Given the description of an element on the screen output the (x, y) to click on. 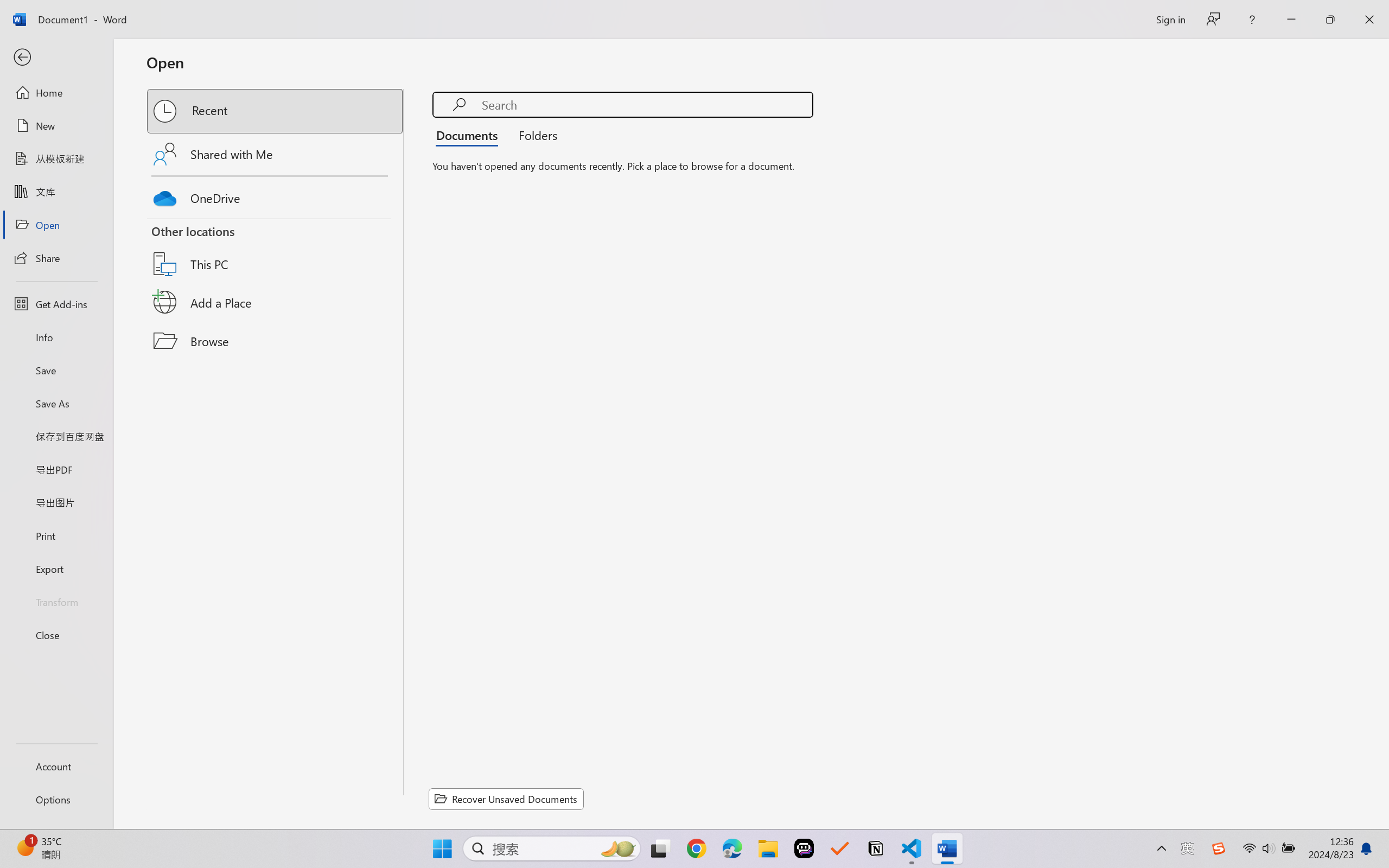
Info (56, 337)
Add a Place (275, 302)
Transform (56, 601)
Export (56, 568)
Get Add-ins (56, 303)
Print (56, 535)
